Given the description of an element on the screen output the (x, y) to click on. 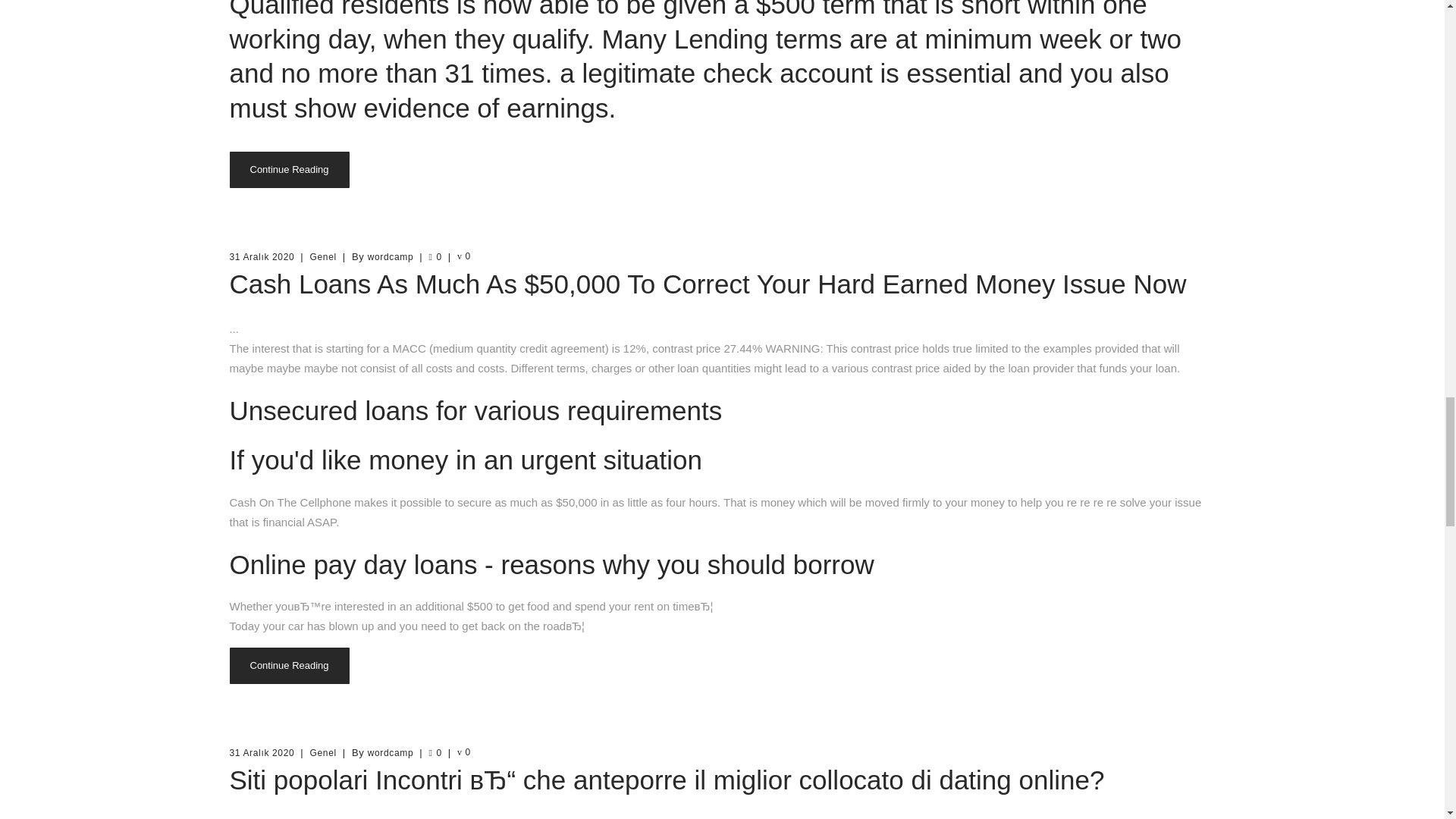
Like this (434, 256)
Like this (434, 752)
